Given the description of an element on the screen output the (x, y) to click on. 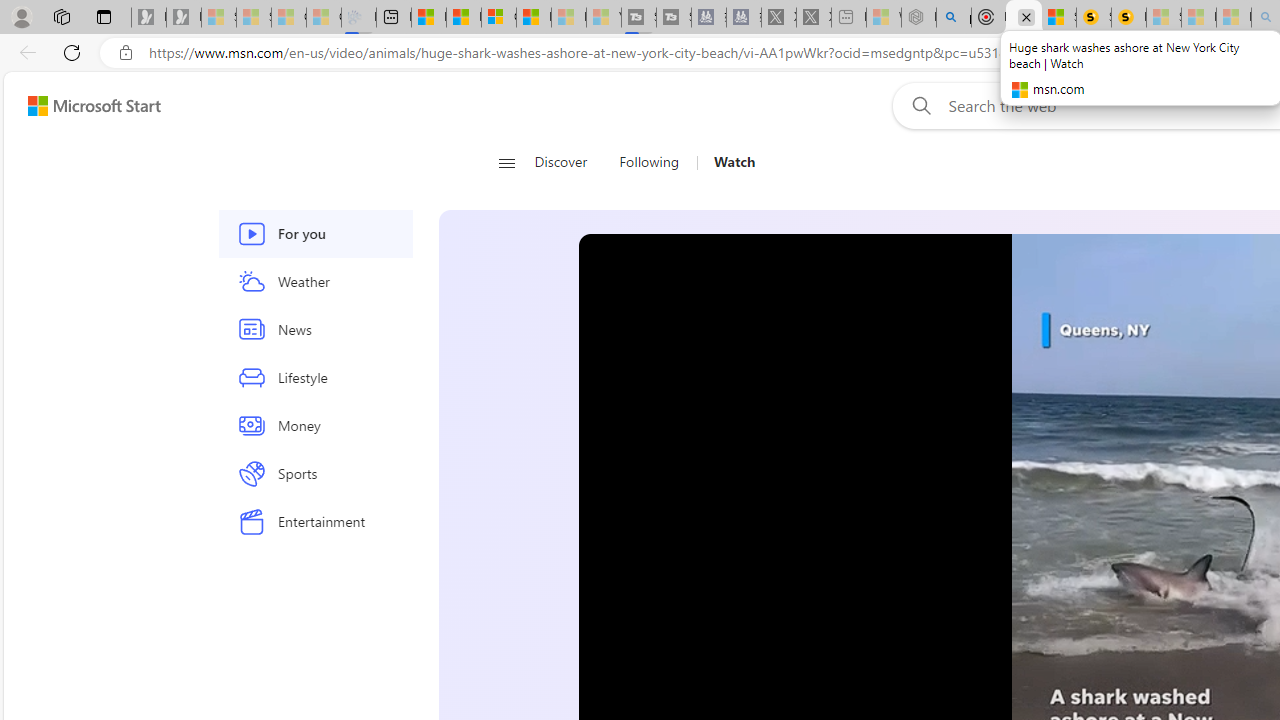
Skip to footer (82, 105)
poe - Search (954, 17)
